Given the description of an element on the screen output the (x, y) to click on. 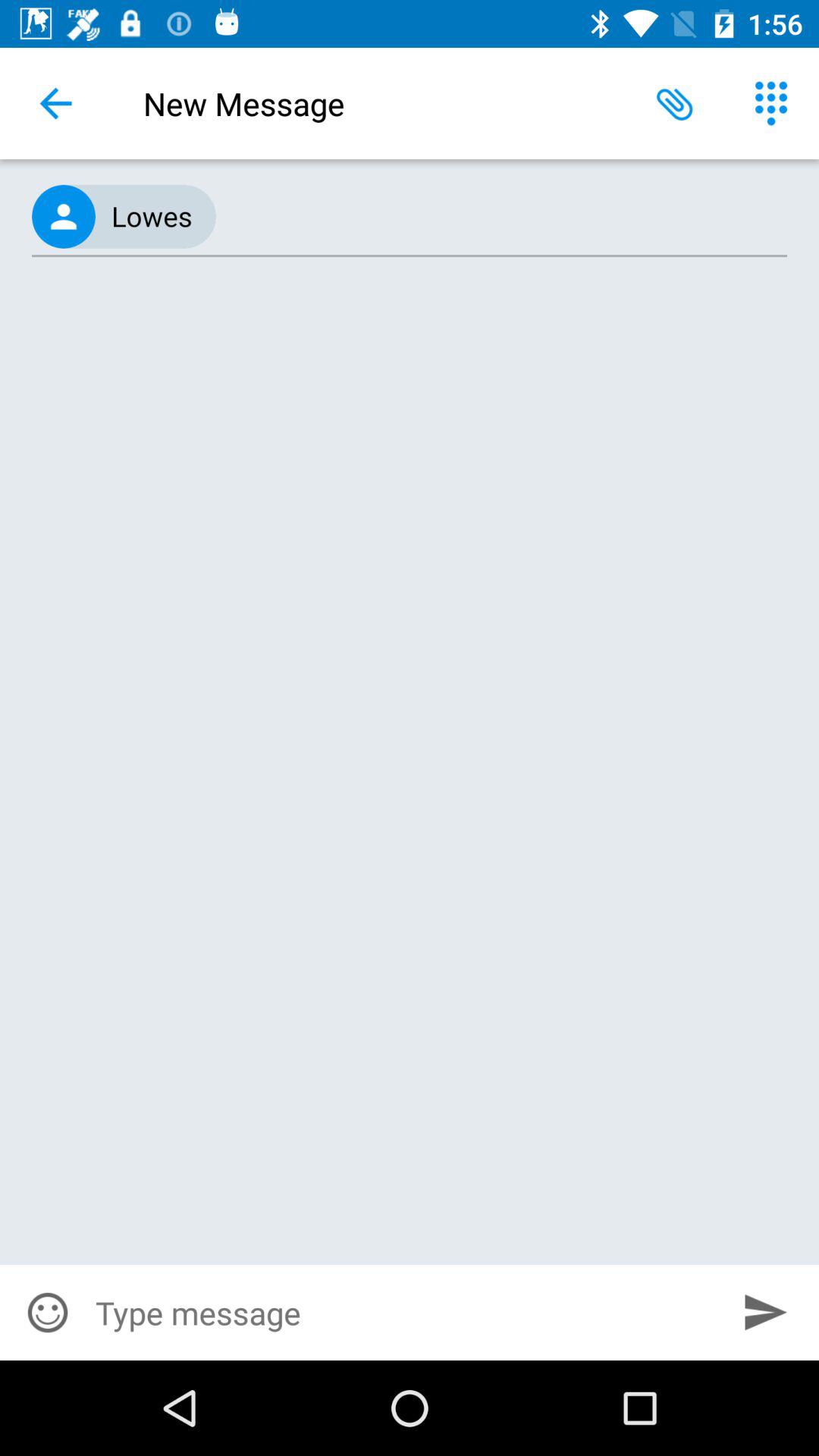
press item at the center (409, 770)
